Given the description of an element on the screen output the (x, y) to click on. 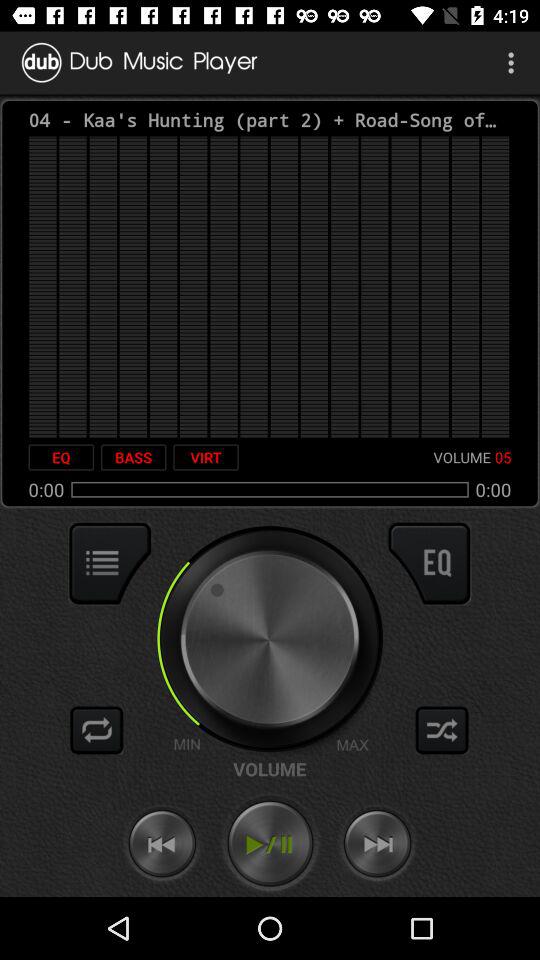
toggle shuffle button (442, 730)
